Given the description of an element on the screen output the (x, y) to click on. 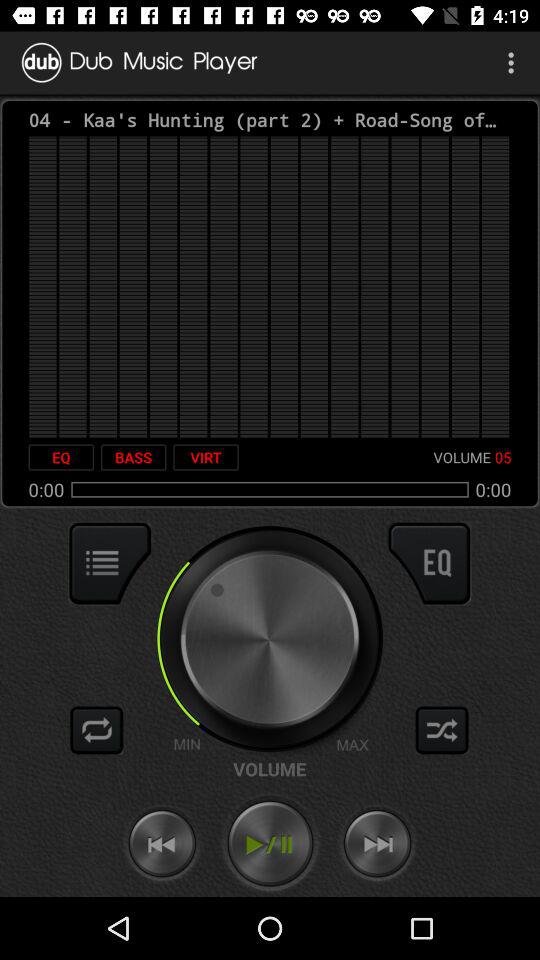
tap the item to the left of  virt  item (133, 457)
